Given the description of an element on the screen output the (x, y) to click on. 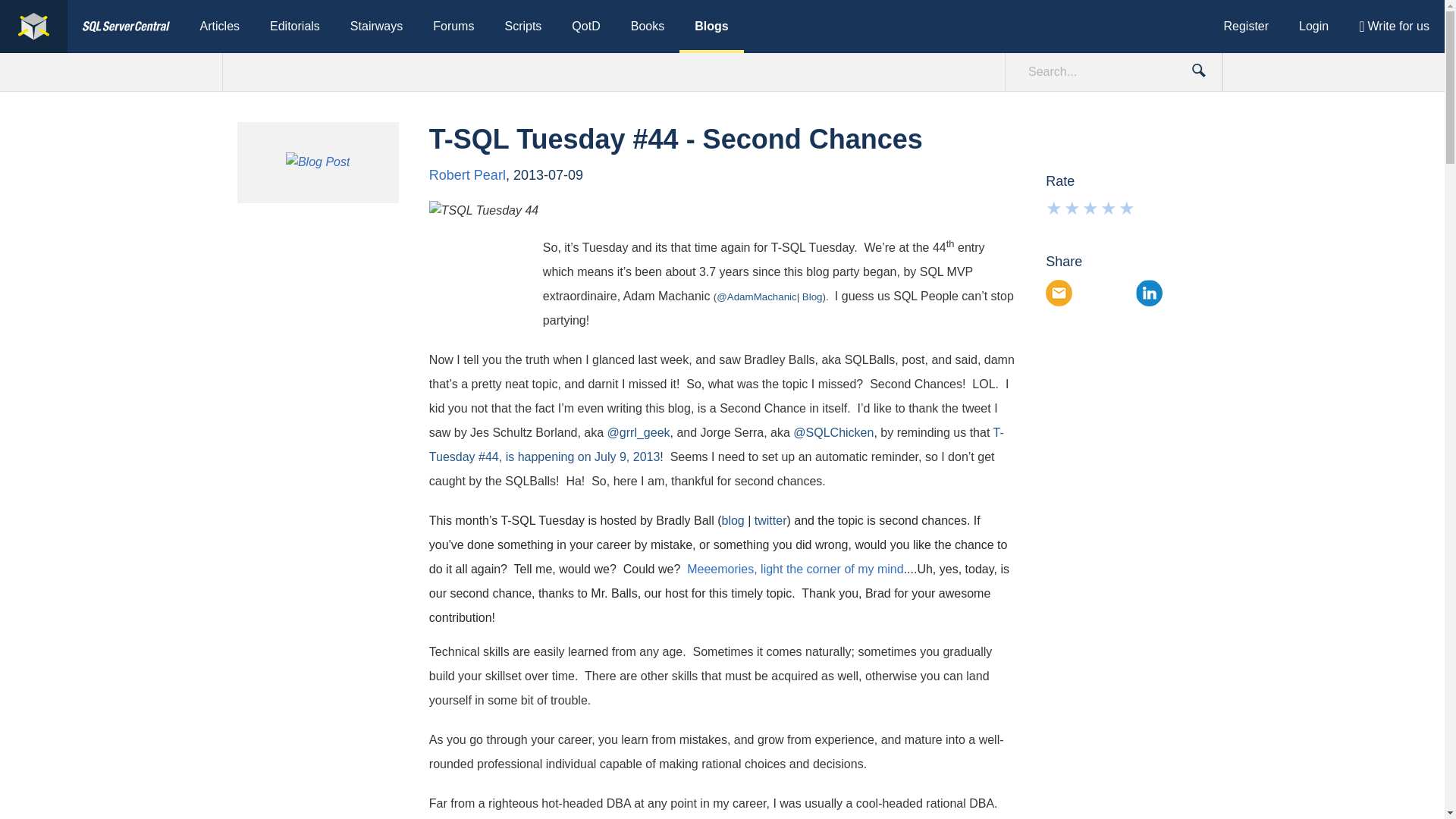
Share on LinkedIn (1148, 293)
Blogs (710, 26)
SQLServerCentral (126, 26)
Share on Facebook (1088, 293)
Blog (812, 296)
Scripts (522, 26)
Email (1058, 293)
Forums (453, 26)
Stairways (375, 26)
Print (1179, 293)
Articles (219, 26)
Register (1246, 26)
Tweet (1118, 293)
Robert Pearl (467, 174)
Editorials (294, 26)
